Given the description of an element on the screen output the (x, y) to click on. 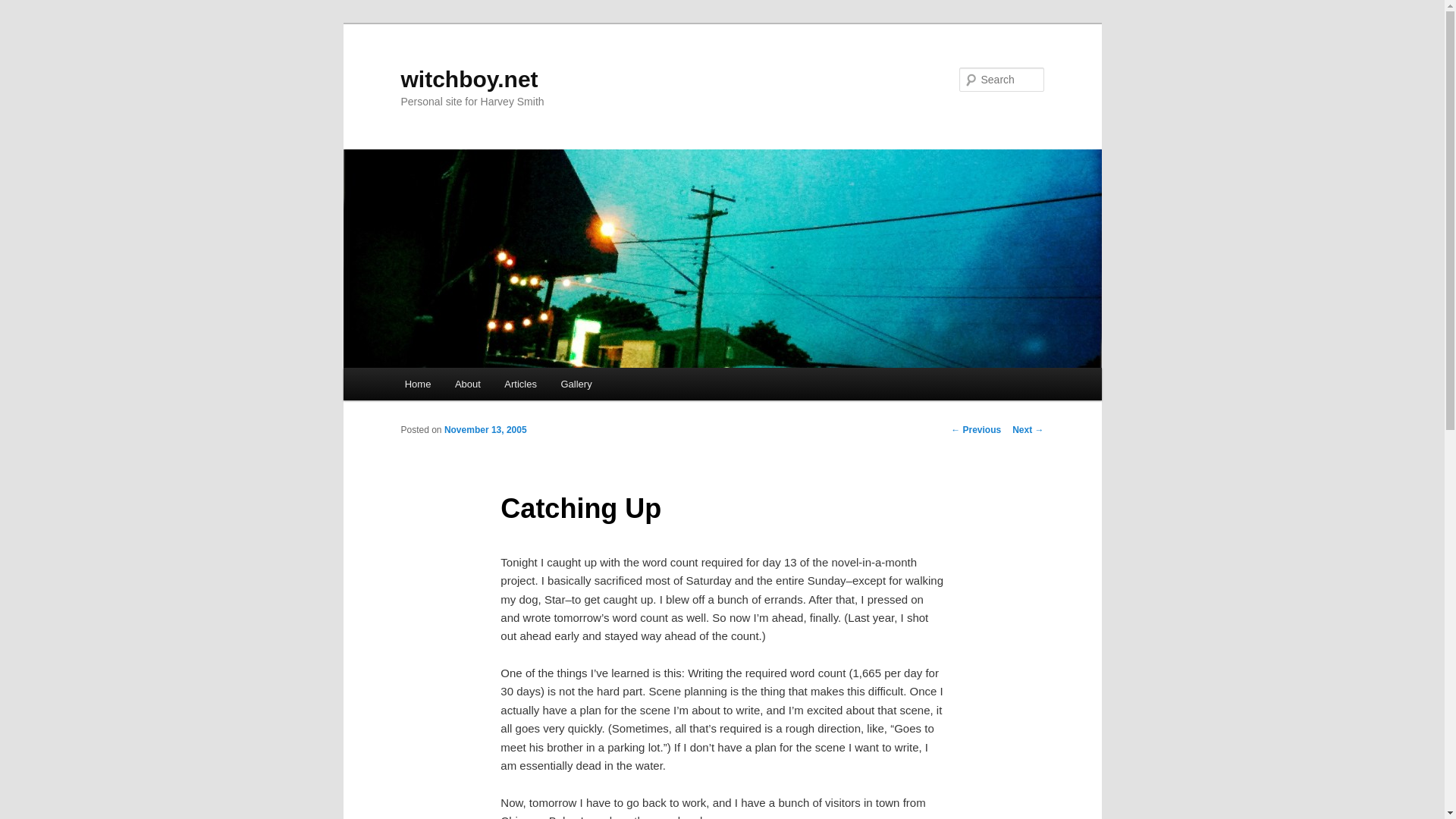
Search (24, 8)
Home (417, 383)
8:08 pm (485, 429)
Articles (520, 383)
About (467, 383)
witchboy.net (468, 78)
Gallery (576, 383)
